Given the description of an element on the screen output the (x, y) to click on. 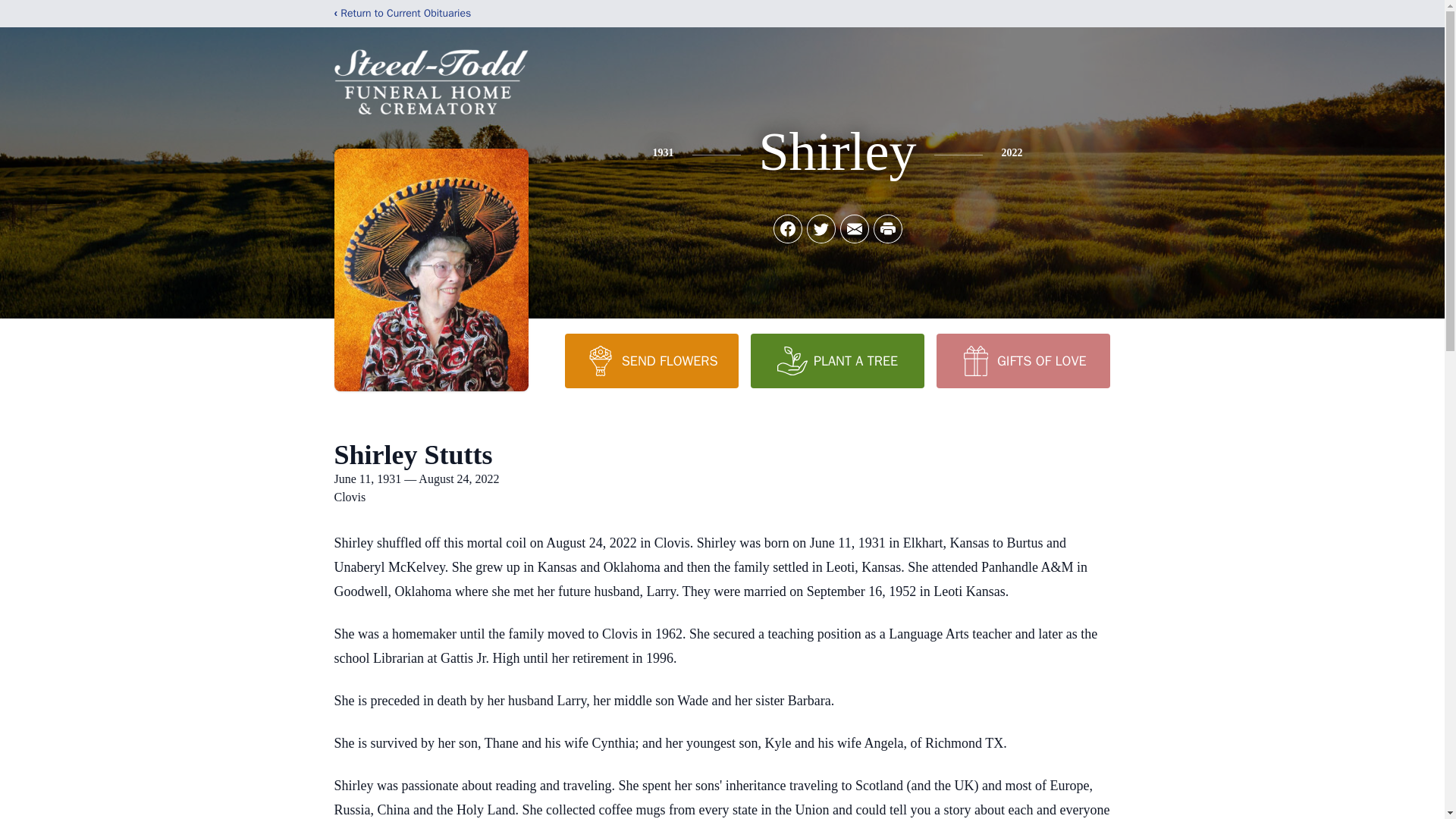
PLANT A TREE (837, 360)
SEND FLOWERS (651, 360)
GIFTS OF LOVE (1022, 360)
